Given the description of an element on the screen output the (x, y) to click on. 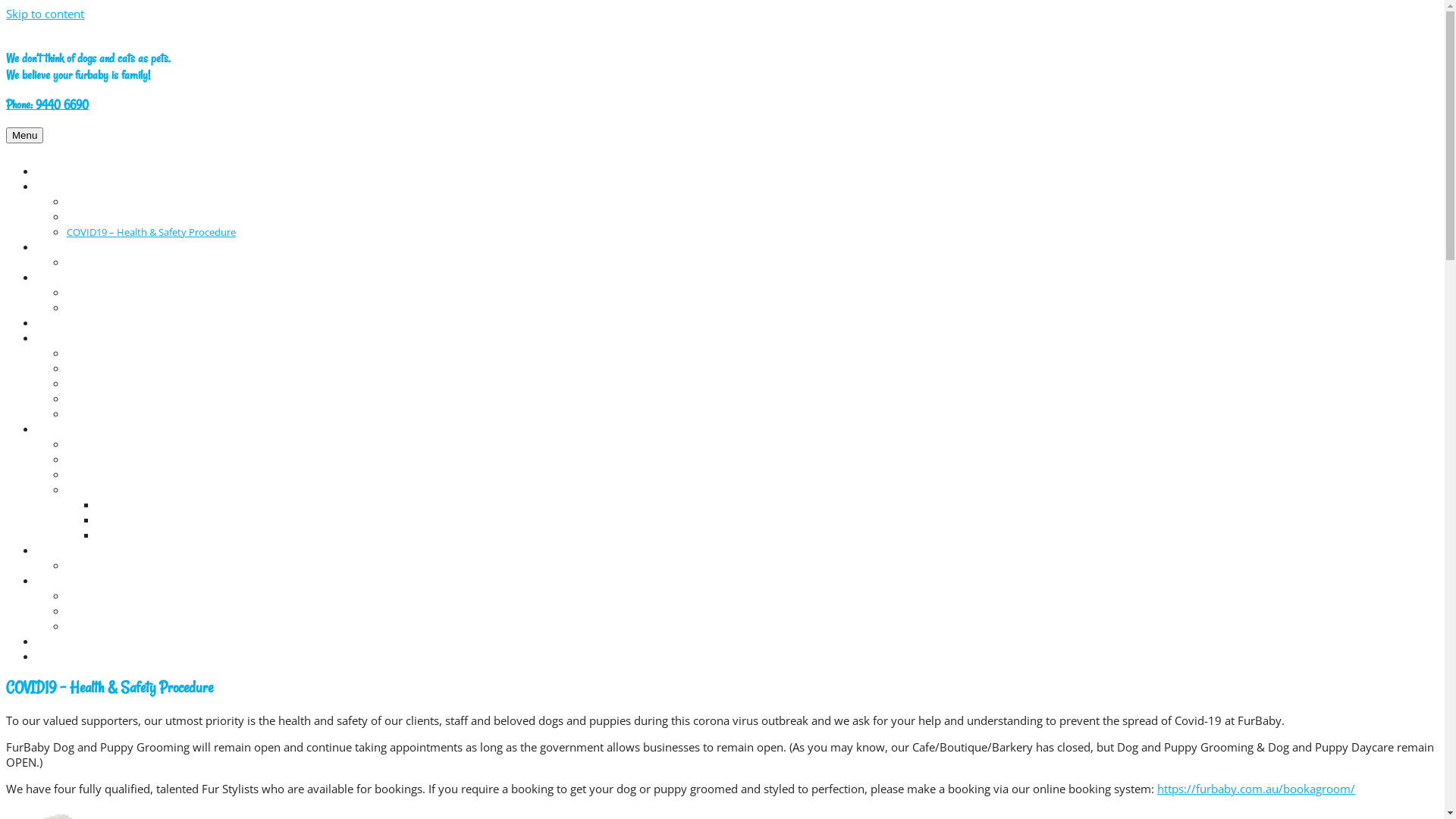
Daycare Element type: text (54, 247)
Information for Parents Element type: text (119, 474)
Puppy Dog Element type: text (61, 277)
Fonzzi FurBaby Element type: text (100, 444)
Contact Us Element type: text (60, 580)
Dog Friendly Cafes Element type: text (108, 353)
Skip to content Element type: text (45, 13)
Privacy Policy Element type: text (127, 504)
Dog Treats Element type: text (60, 322)
Grooming Element type: text (58, 186)
Terms of Use Element type: text (126, 535)
Customer Service Element type: text (105, 489)
Dog Trainers Element type: text (94, 383)
Daycare Enrolment Form Element type: text (122, 262)
Merchandise Returns Element type: text (145, 520)
Puppy Enrolment Form Element type: text (119, 307)
Sponsorship Element type: text (94, 626)
Remembering Animals Element type: text (117, 413)
Videos Element type: text (81, 565)
News Element type: text (48, 656)
https://furbaby.com.au/bookagroom/ Element type: text (1256, 788)
Puppy Program Element type: text (102, 292)
Dog Community Element type: text (73, 338)
Gallery Element type: text (51, 550)
Dog Sitting & Kennels Element type: text (114, 368)
Pet Photographers Element type: text (109, 398)
Careers at FurBaby Dog and Puppy Daycare and Grooming Salon Element type: text (211, 595)
Grooming Prices Element type: text (103, 216)
Book a Groom Element type: text (98, 201)
Menu Element type: text (24, 135)
Our Family Element type: text (91, 459)
About Us Element type: text (57, 429)
Phone: 9440 6690 Element type: text (47, 104)
Santa Paws Element type: text (61, 641)
